Given the description of an element on the screen output the (x, y) to click on. 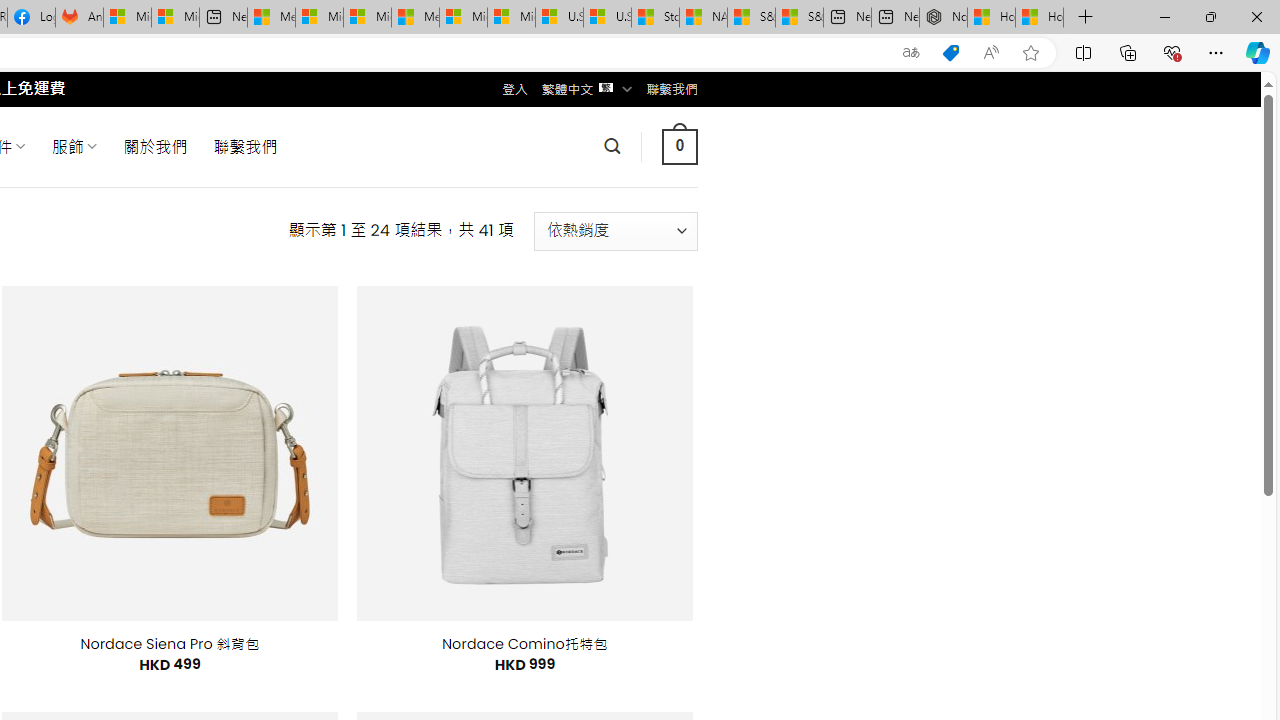
Restore (1210, 16)
S&P 500, Nasdaq end lower, weighed by Nvidia dip | Watch (799, 17)
Copilot (Ctrl+Shift+.) (1258, 52)
  0   (679, 146)
Read aloud this page (Ctrl+Shift+U) (991, 53)
Microsoft account | Home (367, 17)
Browser essentials (1171, 52)
